Given the description of an element on the screen output the (x, y) to click on. 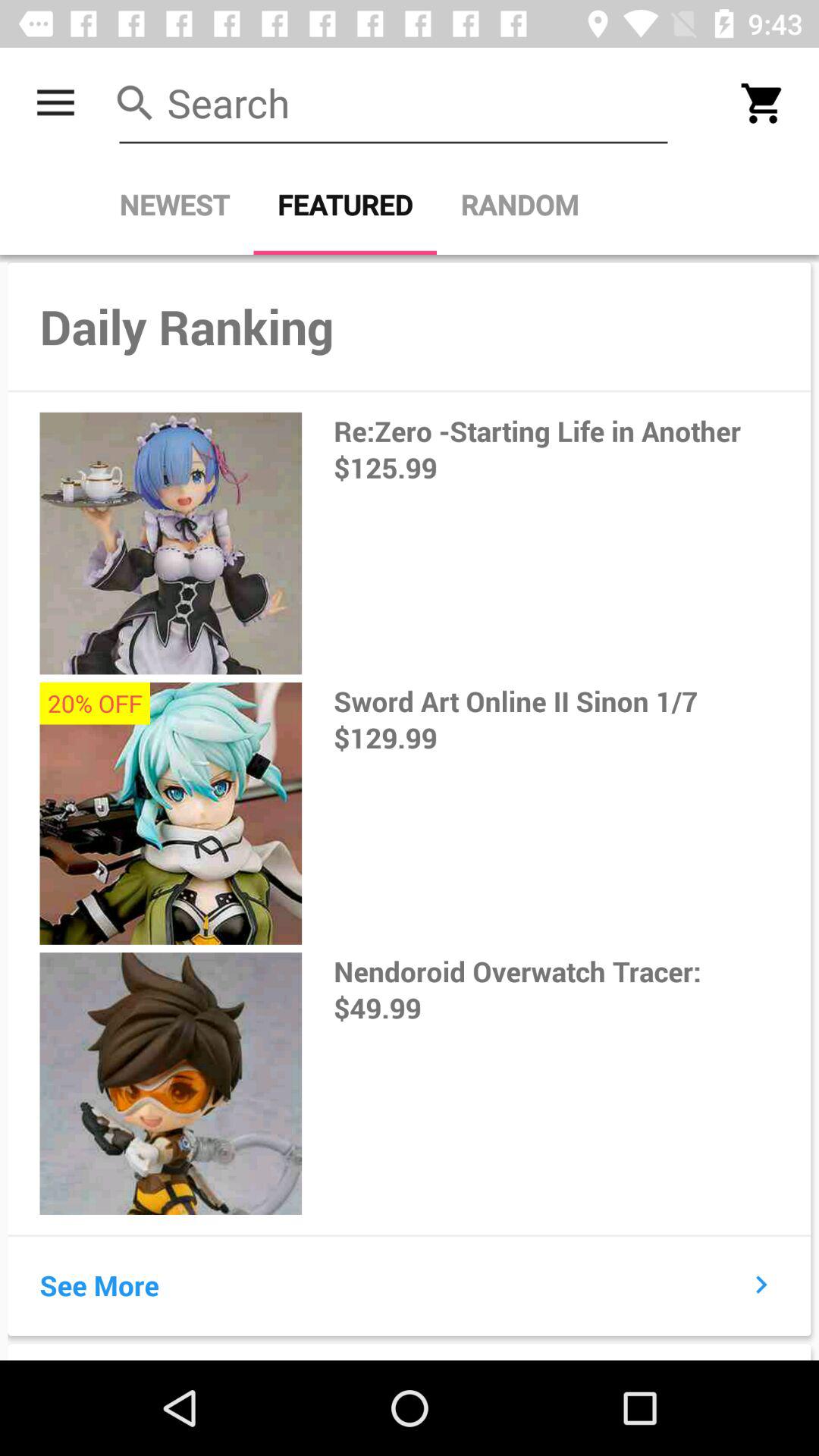
scroll until random (519, 204)
